Given the description of an element on the screen output the (x, y) to click on. 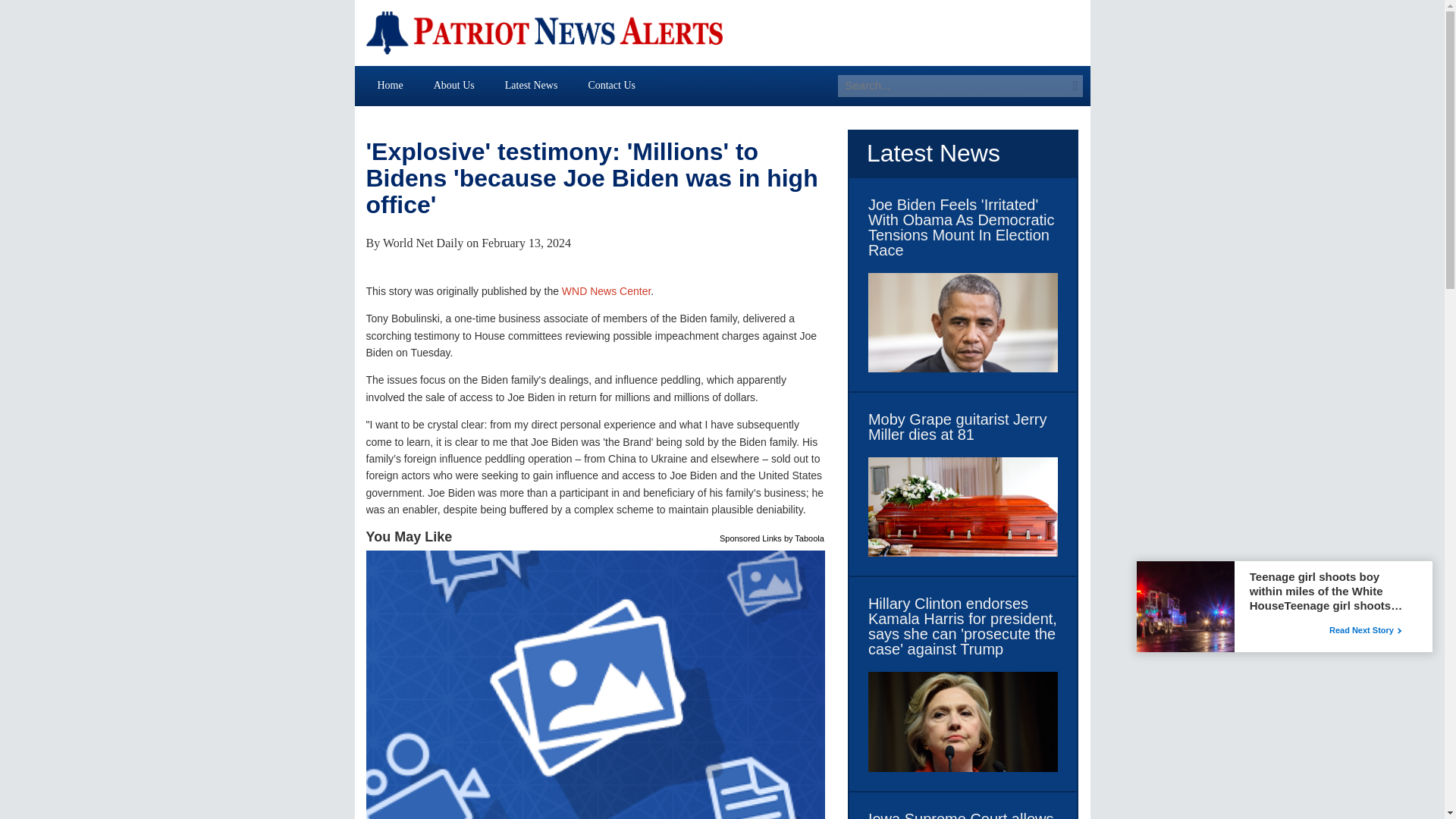
A key breaks into a lock. Would you know what to do? (595, 684)
About Us (454, 85)
by Taboola (804, 536)
Latest News (531, 85)
Iowa Supreme Court allows abortion ban to take effect (962, 815)
Sponsored Links (750, 536)
Search for: (952, 86)
Contact Us (611, 85)
Moby Grape guitarist Jerry Miller dies at 81 (962, 426)
WND News Center (606, 291)
Home (390, 85)
World Net Daily (422, 242)
